Given the description of an element on the screen output the (x, y) to click on. 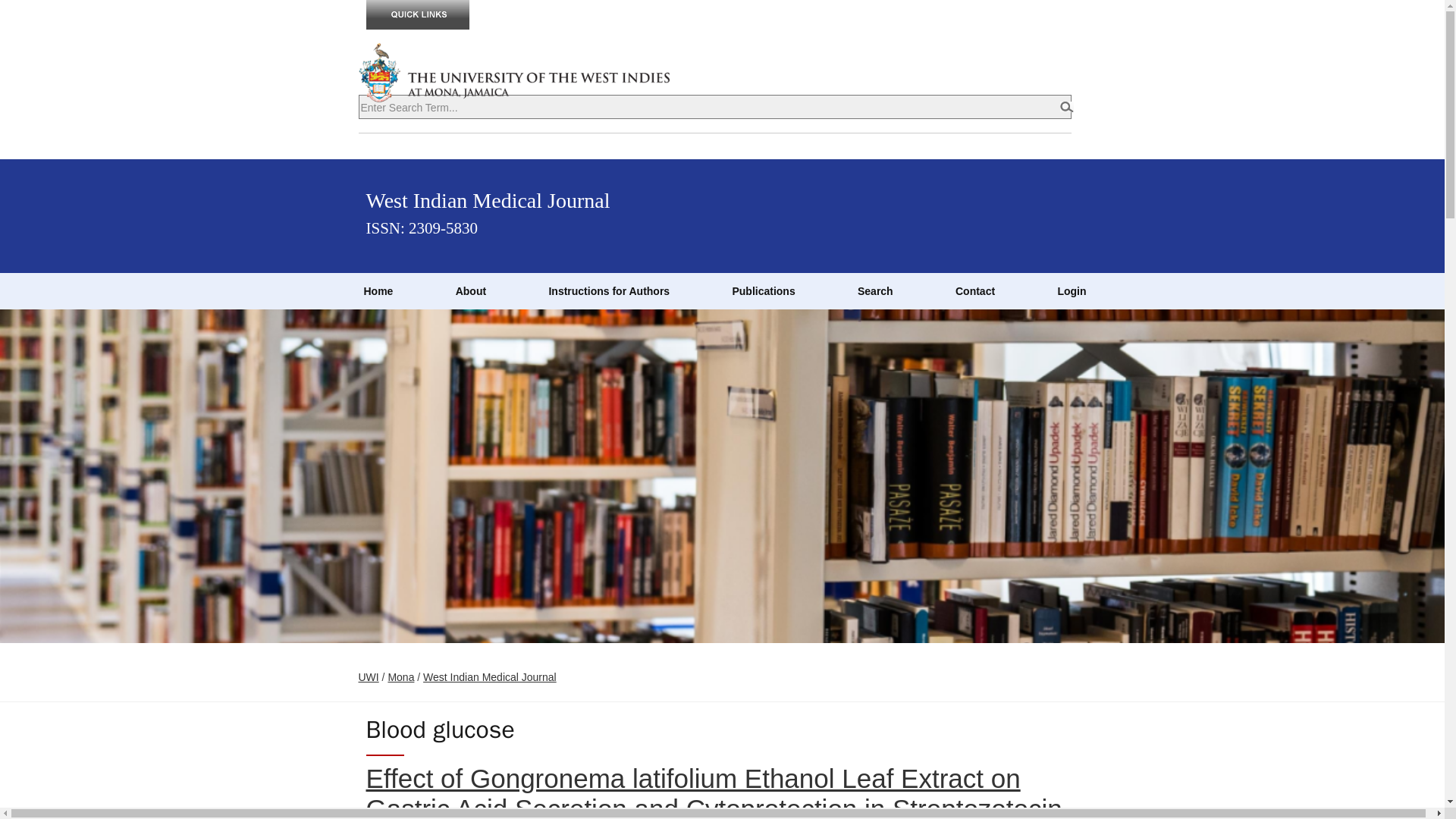
About (470, 291)
Go to our homepage (378, 291)
